Given the description of an element on the screen output the (x, y) to click on. 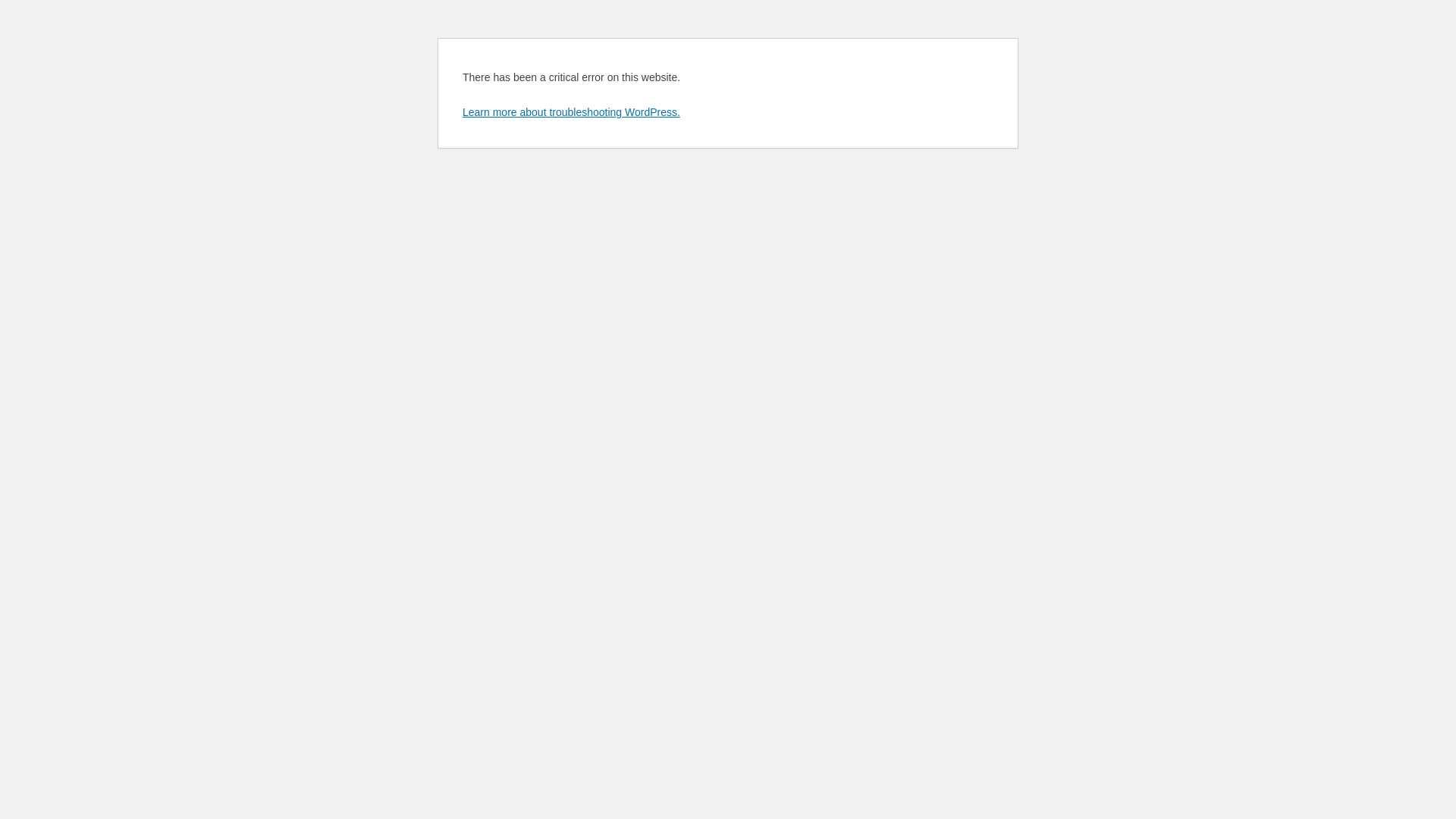
Learn more about troubleshooting WordPress. Element type: text (571, 112)
